Given the description of an element on the screen output the (x, y) to click on. 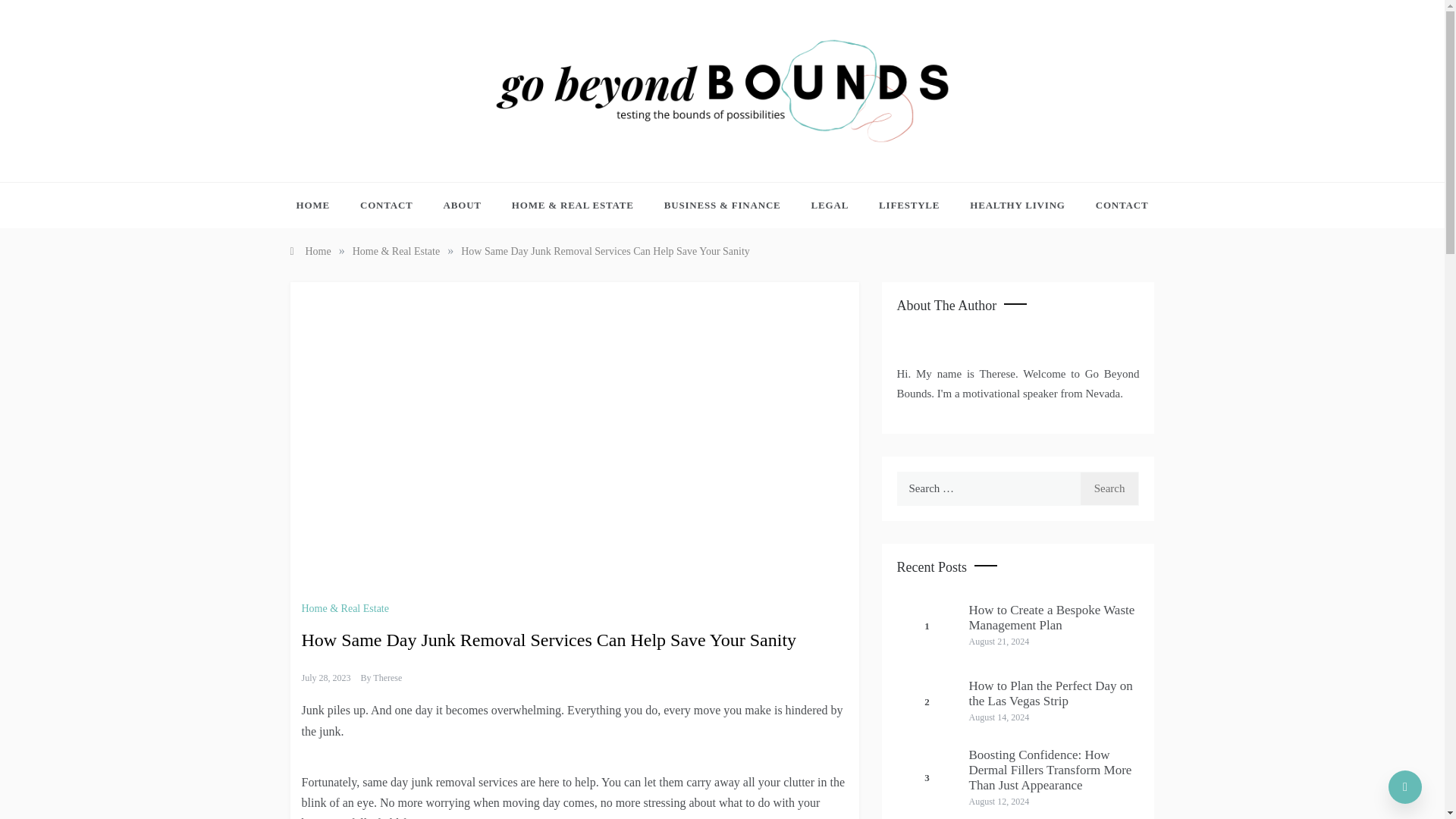
LEGAL (830, 205)
Home (309, 251)
Search (1110, 488)
ABOUT (462, 205)
Search (1110, 488)
HEALTHY LIVING (1017, 205)
CONTACT (1114, 205)
CONTACT (386, 205)
Go to Top (1405, 786)
July 28, 2023 (325, 677)
